Given the description of an element on the screen output the (x, y) to click on. 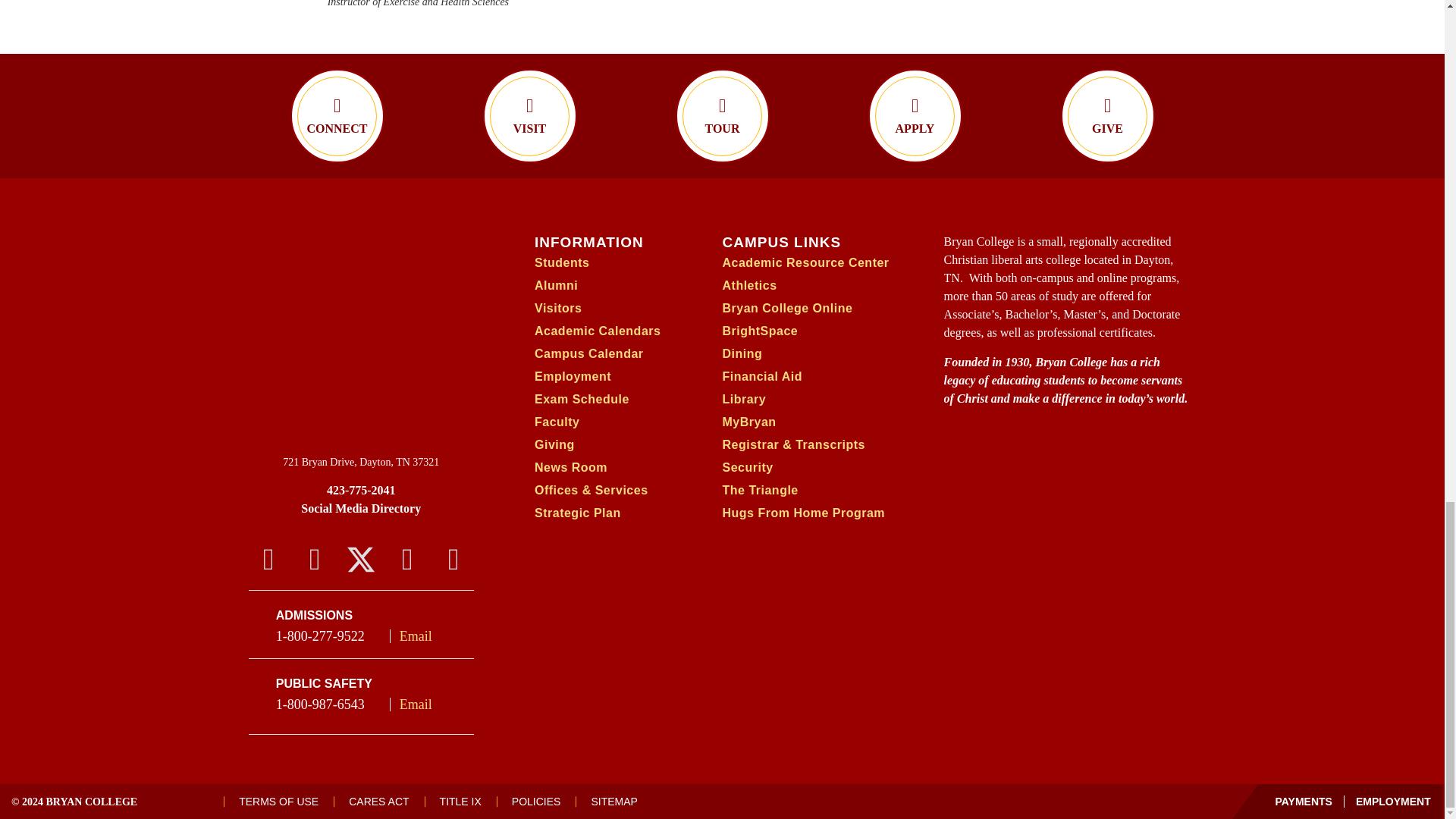
Employment (1387, 801)
423-775-2041 (361, 490)
Daniel, Christopher (440, 4)
Payments (1303, 801)
